Given the description of an element on the screen output the (x, y) to click on. 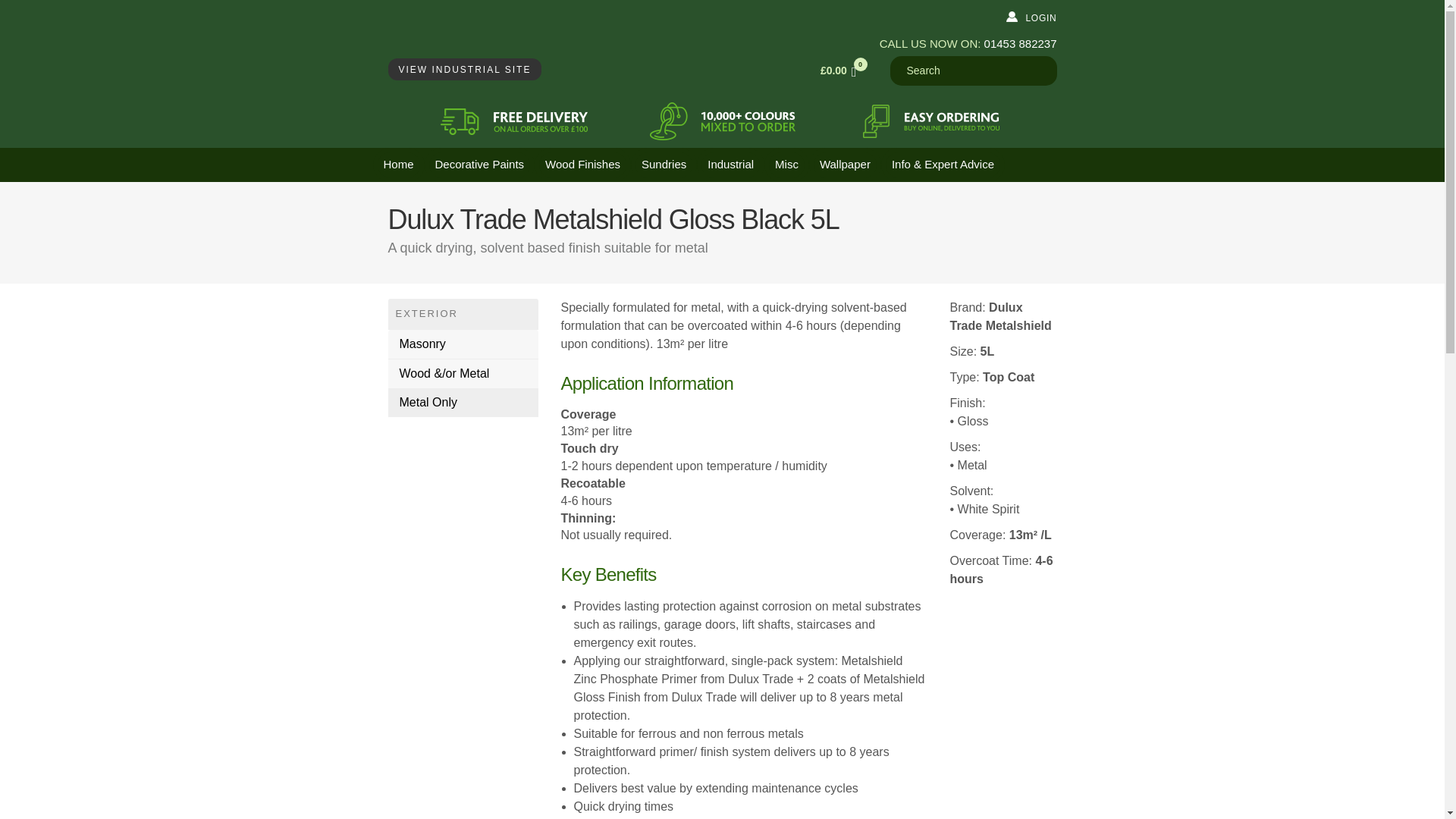
VIEW INDUSTRIAL SITE (464, 69)
Home (398, 164)
Decorative Paints (480, 164)
Search (973, 70)
Search (973, 70)
Decorative Paint (480, 164)
Wood Finishes (582, 164)
Bailey Paints Home Page (491, 39)
LOGIN (1041, 18)
